Given the description of an element on the screen output the (x, y) to click on. 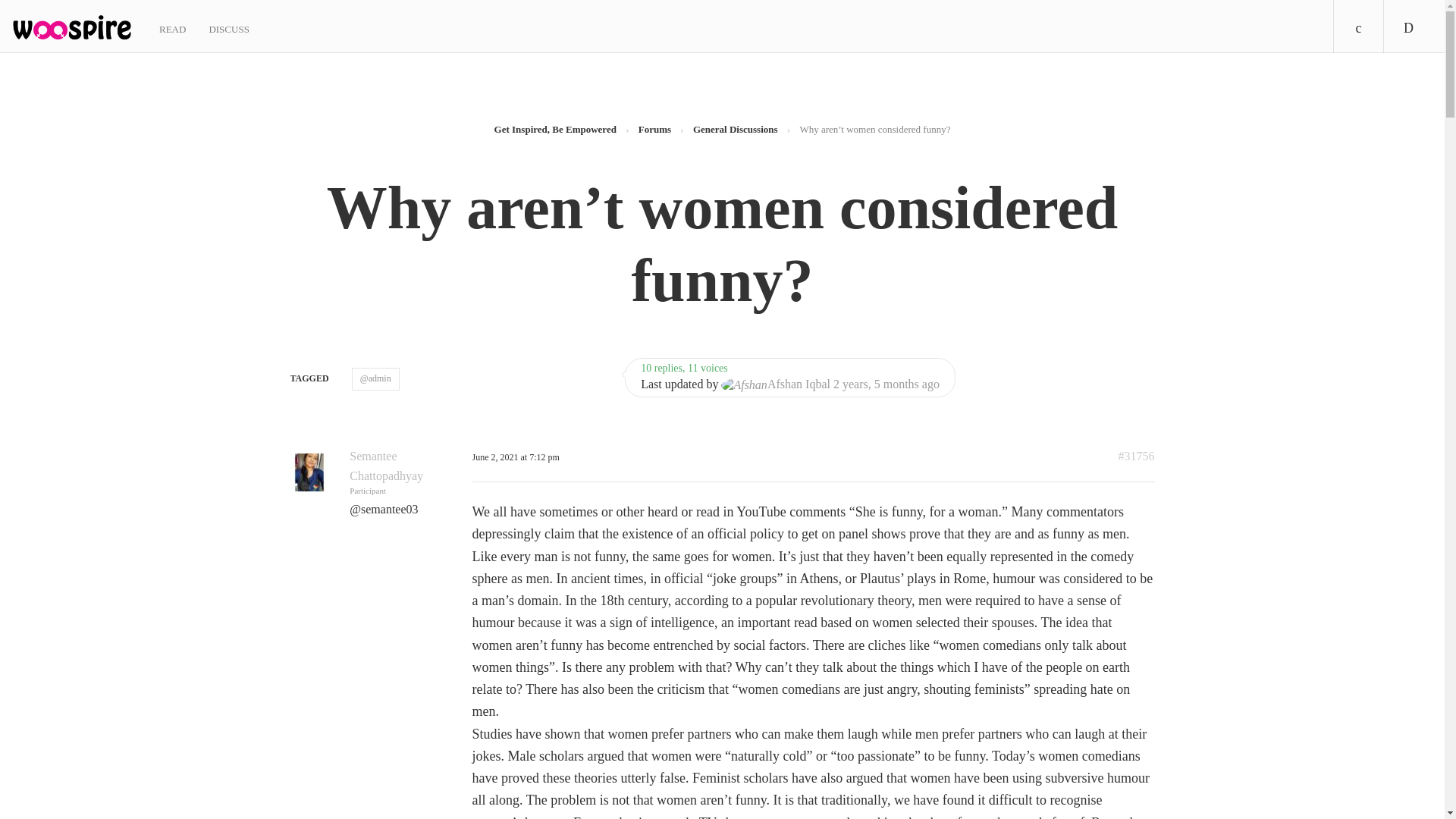
Forums (655, 129)
View Semantee Chattopadhyay's profile (386, 465)
View Afshan Iqbal's profile (774, 383)
Get Inspired, Be Empowered (555, 129)
Semantee Chattopadhyay (386, 465)
2 years, 5 months ago (885, 383)
Afshan Iqbal (774, 383)
General Discussions (735, 129)
